Given the description of an element on the screen output the (x, y) to click on. 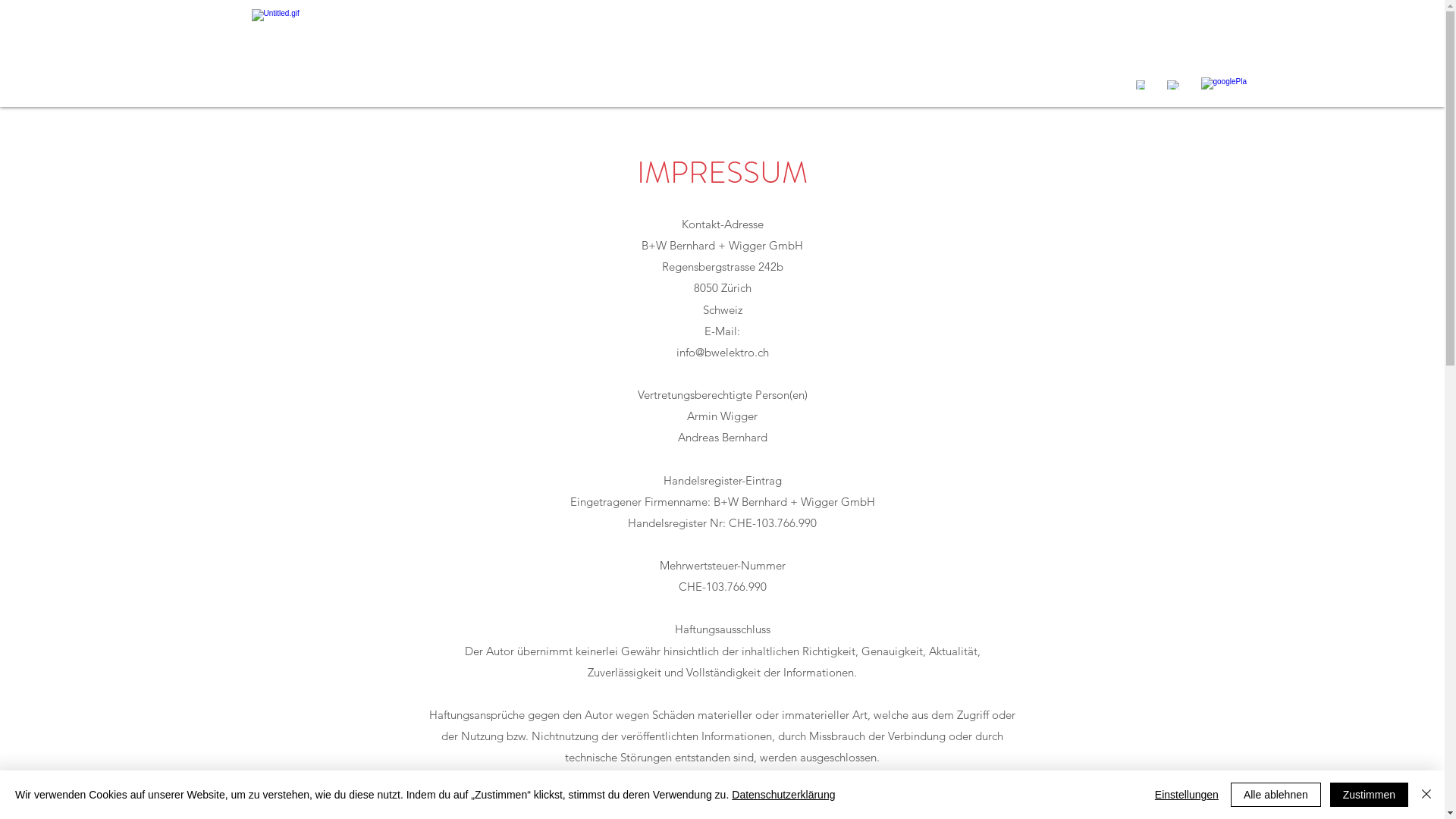
Alle ablehnen Element type: text (1275, 794)
Zustimmen Element type: text (1369, 794)
info@bwelektro.ch Element type: text (722, 352)
